Given the description of an element on the screen output the (x, y) to click on. 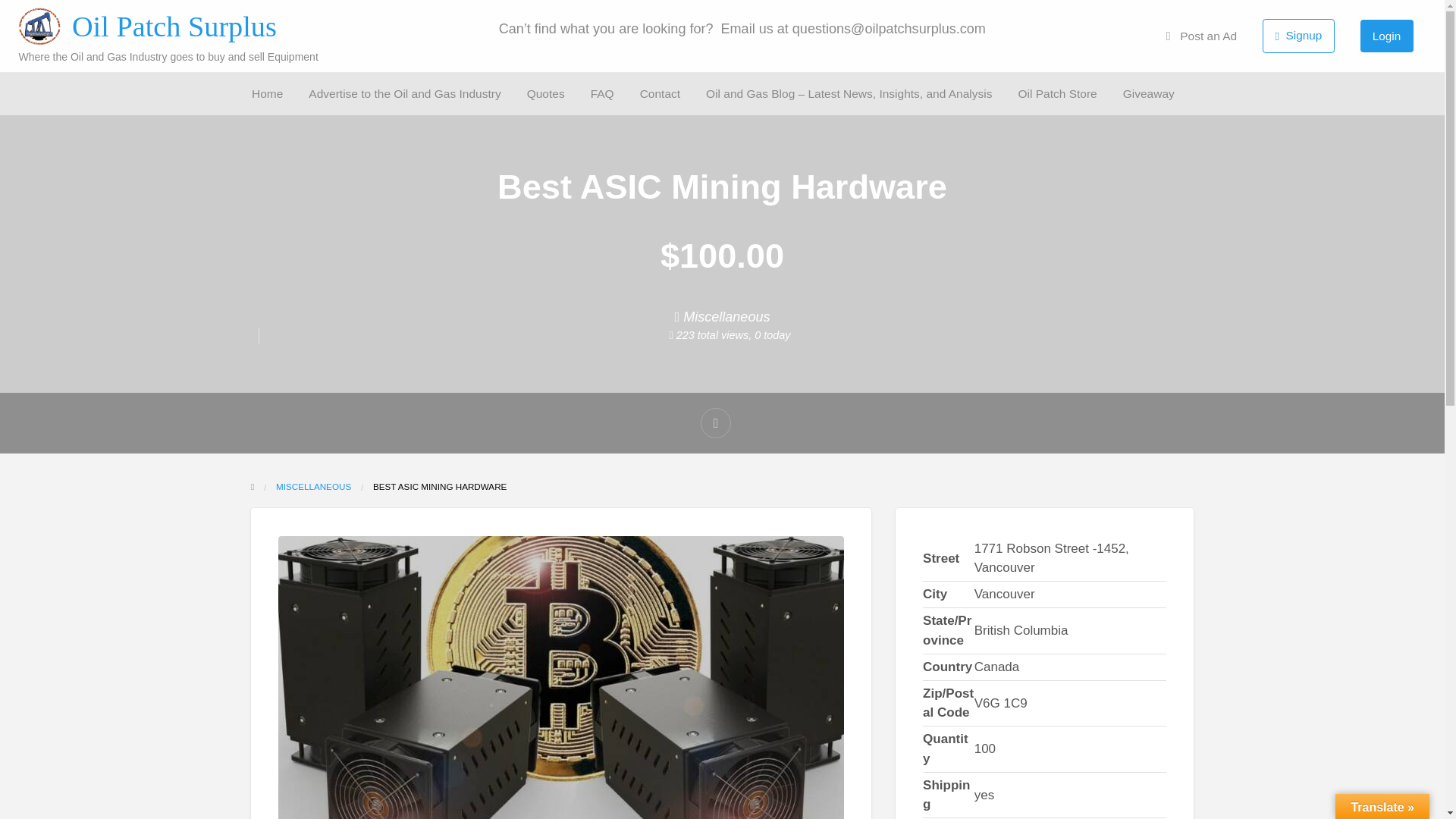
FAQ (602, 93)
Quotes (545, 93)
Report problem (715, 422)
Contact (114, 125)
FAQ (52, 125)
Advertise to the Oil and Gas Industry (404, 93)
Oil Patch Surplus (173, 26)
Post an Ad (1201, 35)
Signup (1297, 35)
Signup (1297, 35)
Miscellaneous (726, 316)
Login (1387, 35)
Giveaway (1148, 93)
Oil Patch Store (1056, 93)
Login (1386, 35)
